Given the description of an element on the screen output the (x, y) to click on. 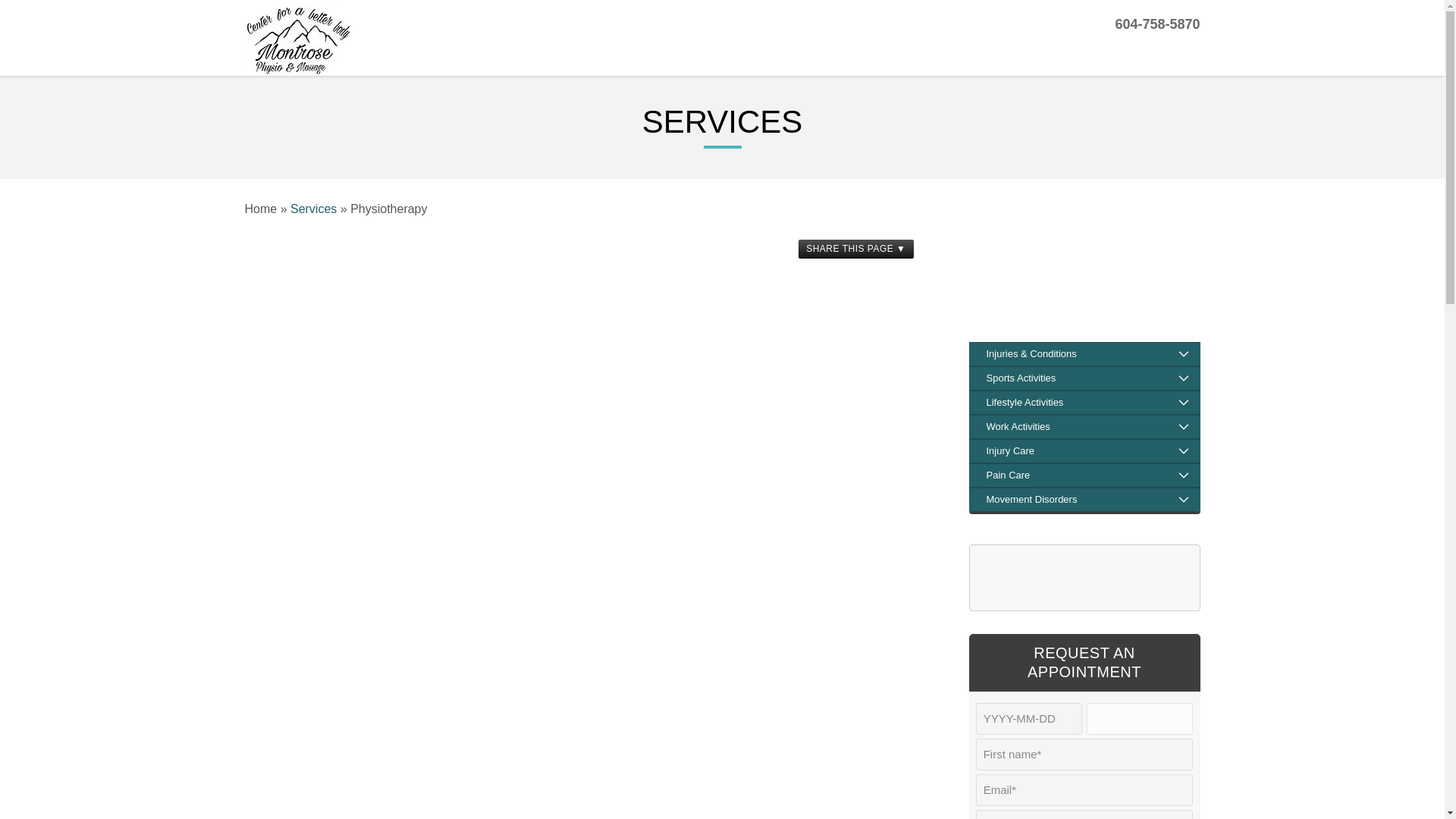
604-758-5870 (1142, 24)
Phone: must be 10 digits long (1084, 814)
Site Logo (338, 40)
Appointment date (1028, 717)
First name (1084, 754)
Appointment time (1139, 717)
Services (312, 207)
Email (1084, 789)
